Given the description of an element on the screen output the (x, y) to click on. 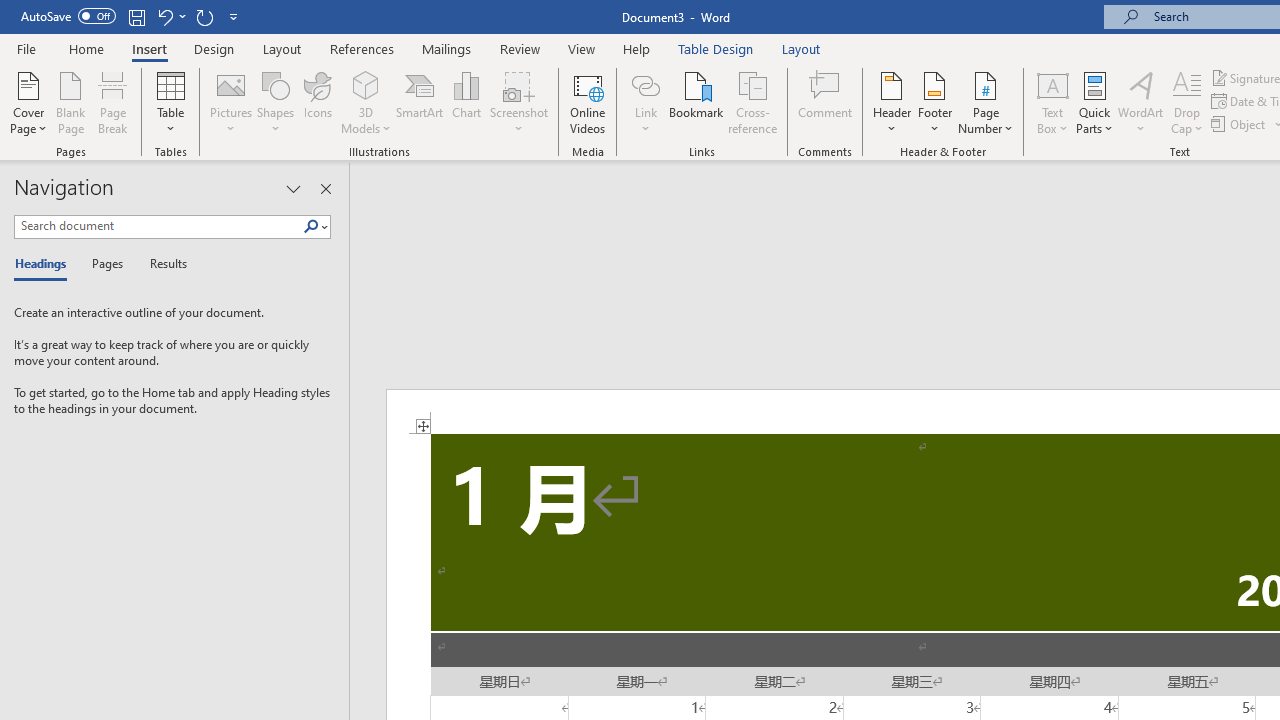
Comment (825, 102)
Object... (1240, 124)
Bookmark... (695, 102)
Pictures (230, 102)
Blank Page (70, 102)
